Given the description of an element on the screen output the (x, y) to click on. 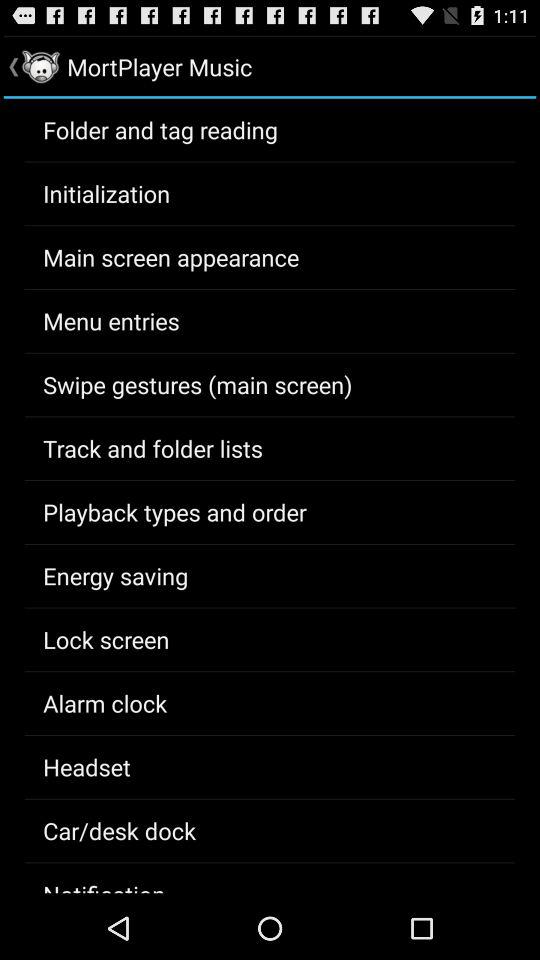
tap the alarm clock icon (105, 703)
